Given the description of an element on the screen output the (x, y) to click on. 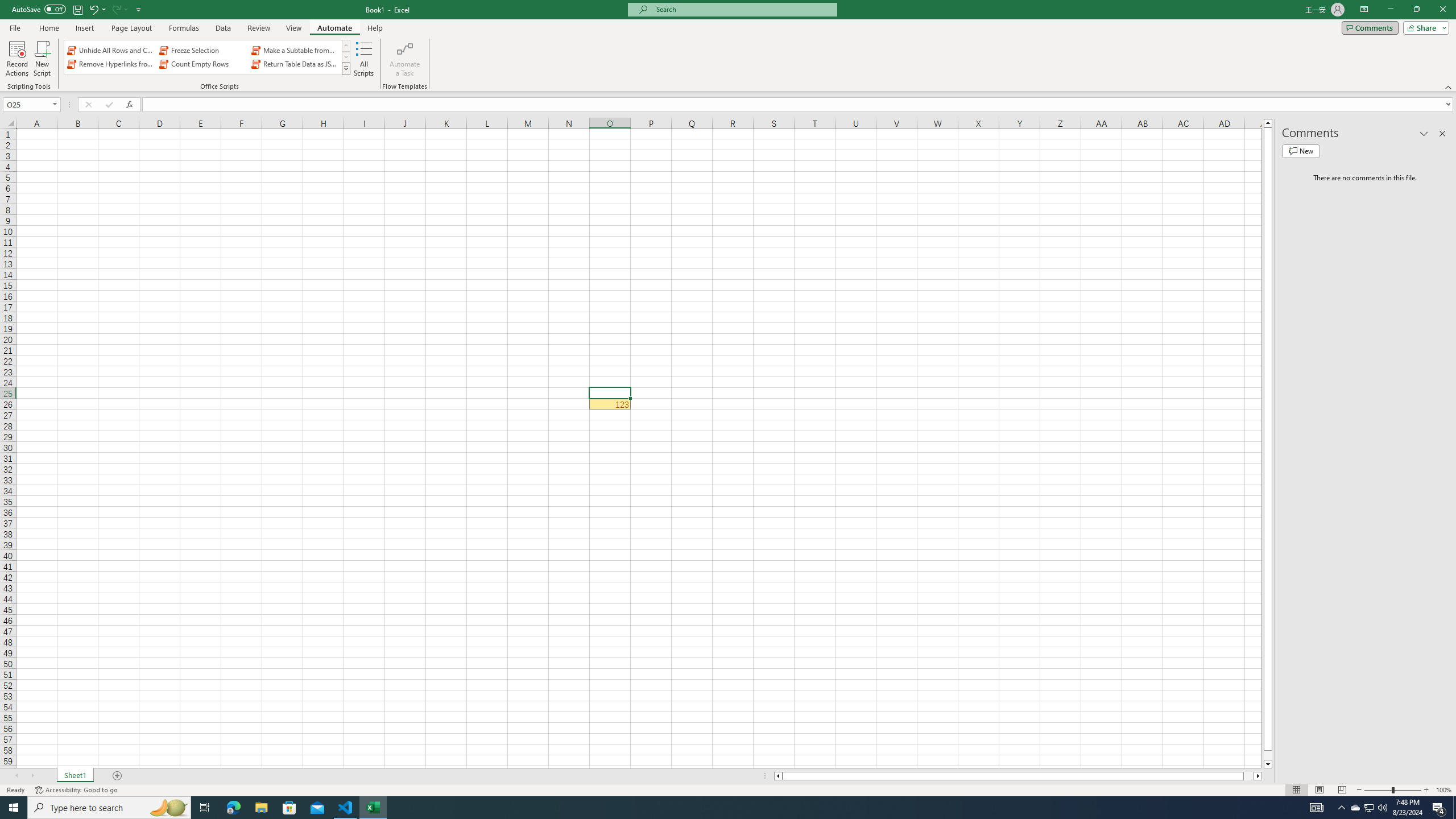
Freeze Selection (202, 50)
All Scripts (363, 58)
Automate a Task (404, 58)
AutomationID: OfficeScriptsGallery (207, 57)
New Script (41, 58)
